Given the description of an element on the screen output the (x, y) to click on. 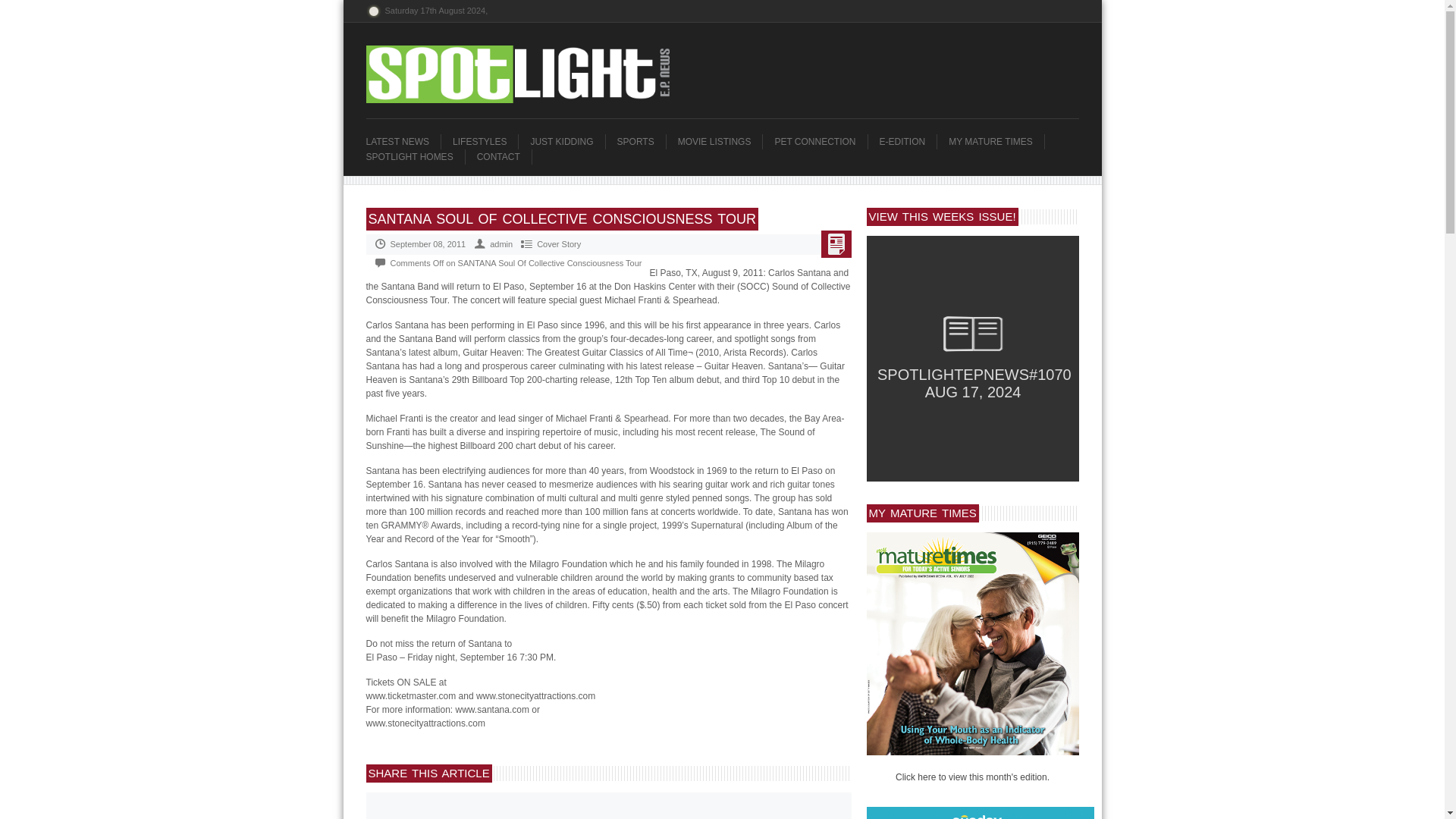
SPOTLIGHT HOMES (414, 156)
MOVIE LISTINGS (720, 141)
E-EDITION (908, 141)
SPORTS (641, 141)
Click here to view this month's edition. (972, 777)
LATEST NEWS (403, 141)
CONTACT (504, 156)
MY MATURE TIMES (996, 141)
JUST KIDDING (566, 141)
LIFESTYLES (485, 141)
